Given the description of an element on the screen output the (x, y) to click on. 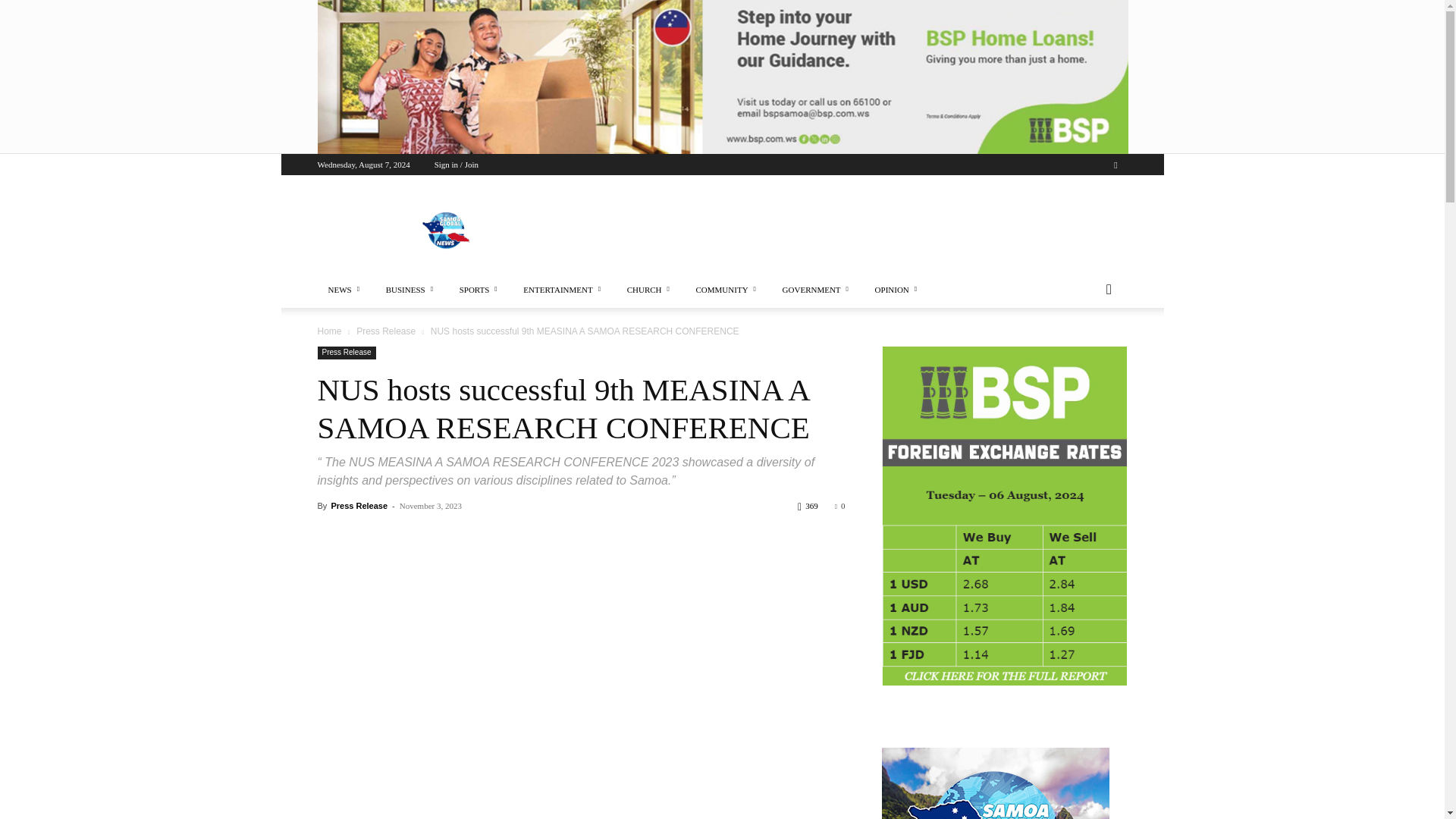
Facebook (1114, 164)
